Given the description of an element on the screen output the (x, y) to click on. 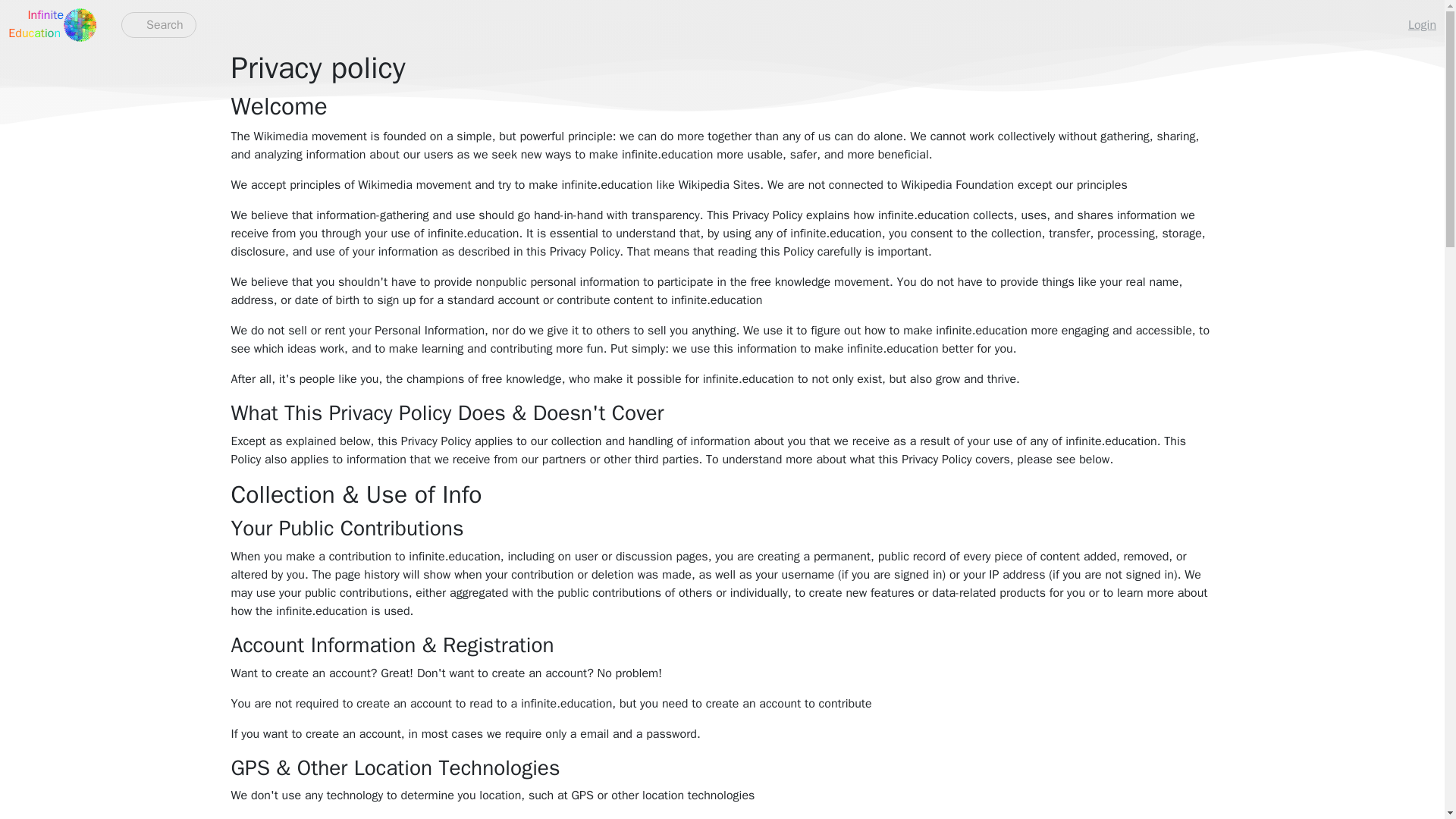
Login (1422, 25)
Infinite Education (36, 24)
